Given the description of an element on the screen output the (x, y) to click on. 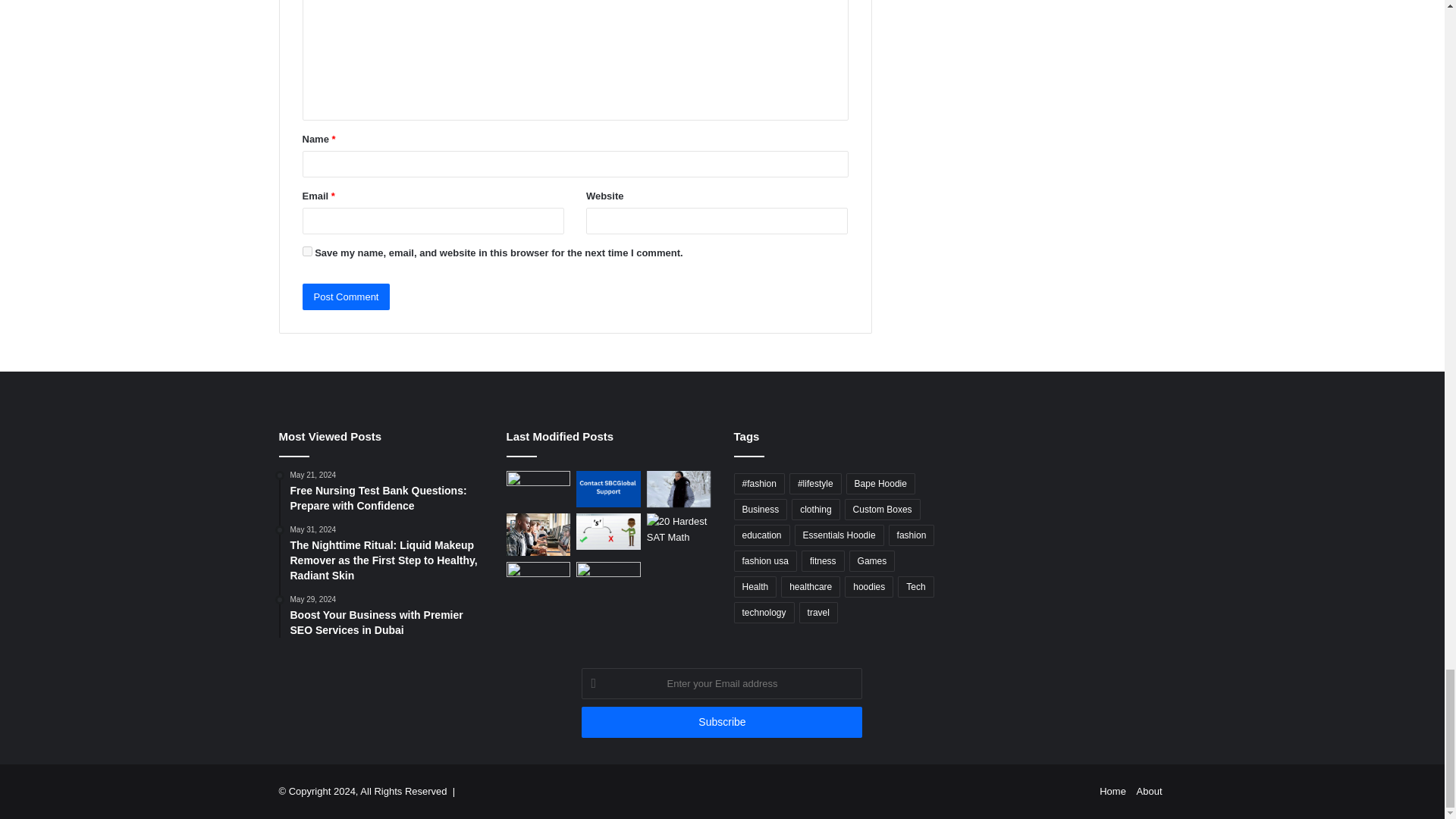
yes (306, 251)
Subscribe (720, 721)
Post Comment (345, 296)
